Given the description of an element on the screen output the (x, y) to click on. 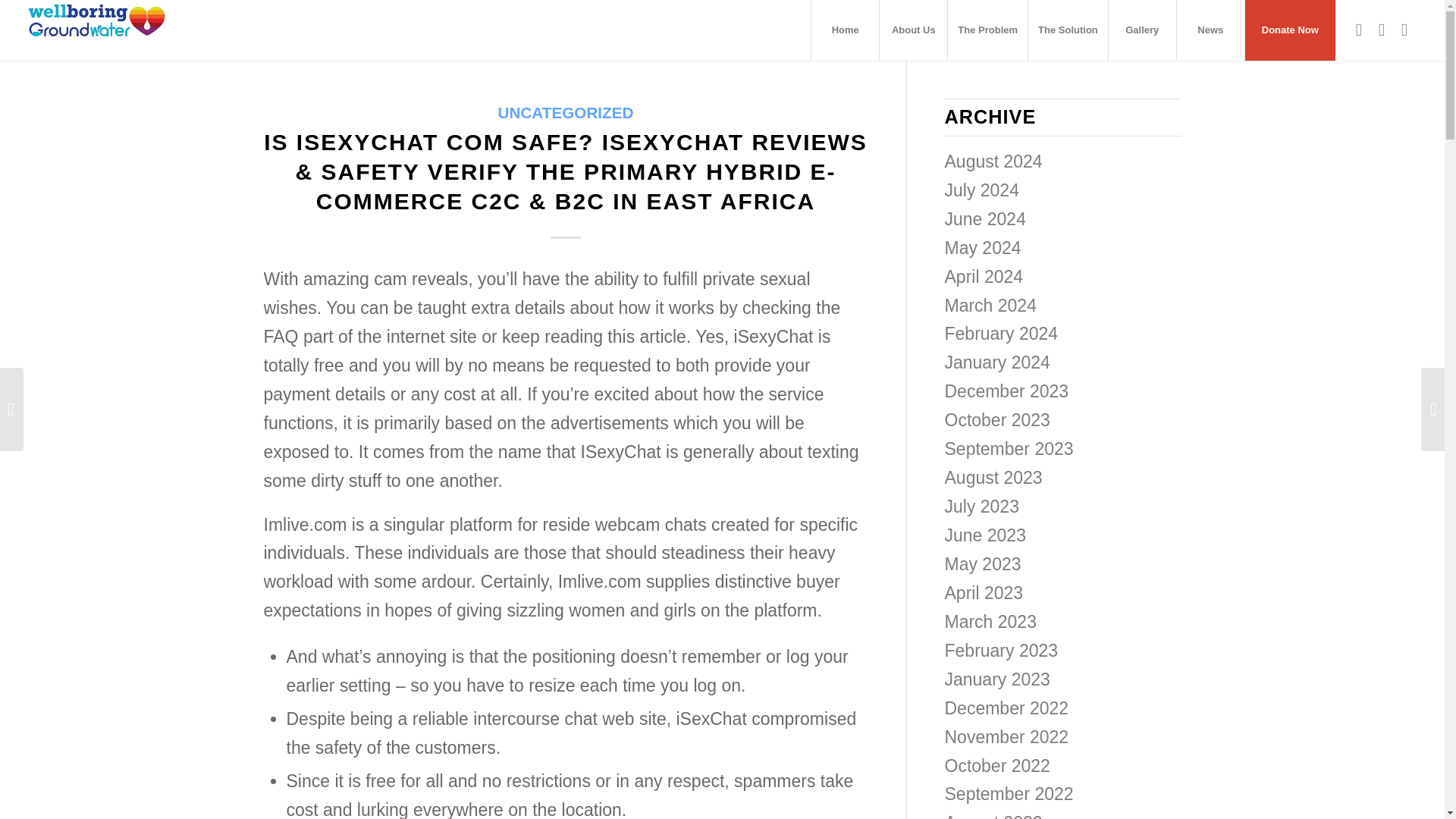
Home (844, 30)
August 2023 (993, 477)
December 2023 (1006, 391)
Twitter (1381, 29)
April 2024 (983, 276)
The Solution (1067, 30)
August 2024 (993, 161)
October 2023 (996, 419)
June 2024 (985, 219)
Donate Now (1289, 30)
